Given the description of an element on the screen output the (x, y) to click on. 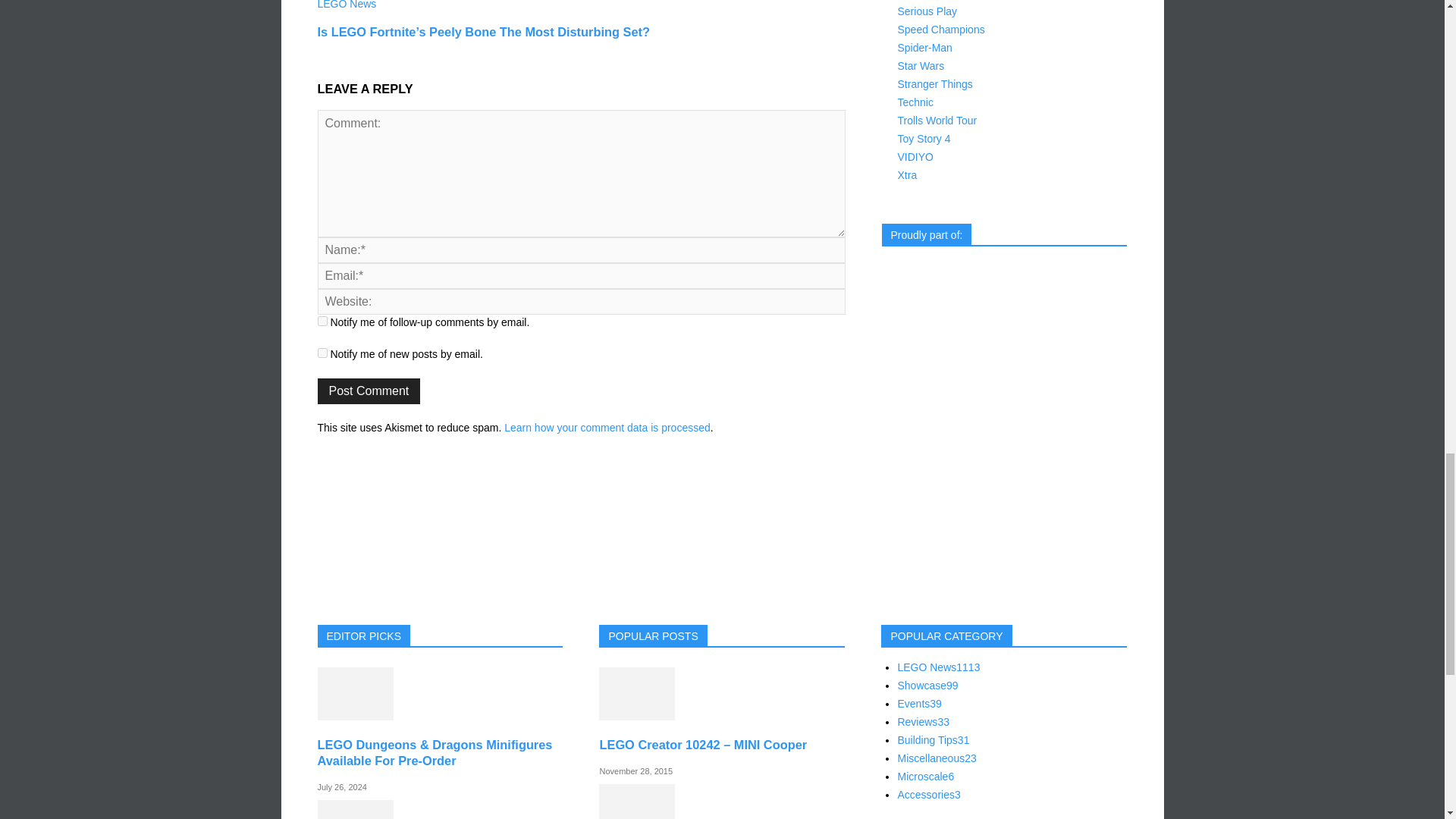
Post Comment (368, 391)
subscribe (321, 352)
subscribe (321, 320)
